Given the description of an element on the screen output the (x, y) to click on. 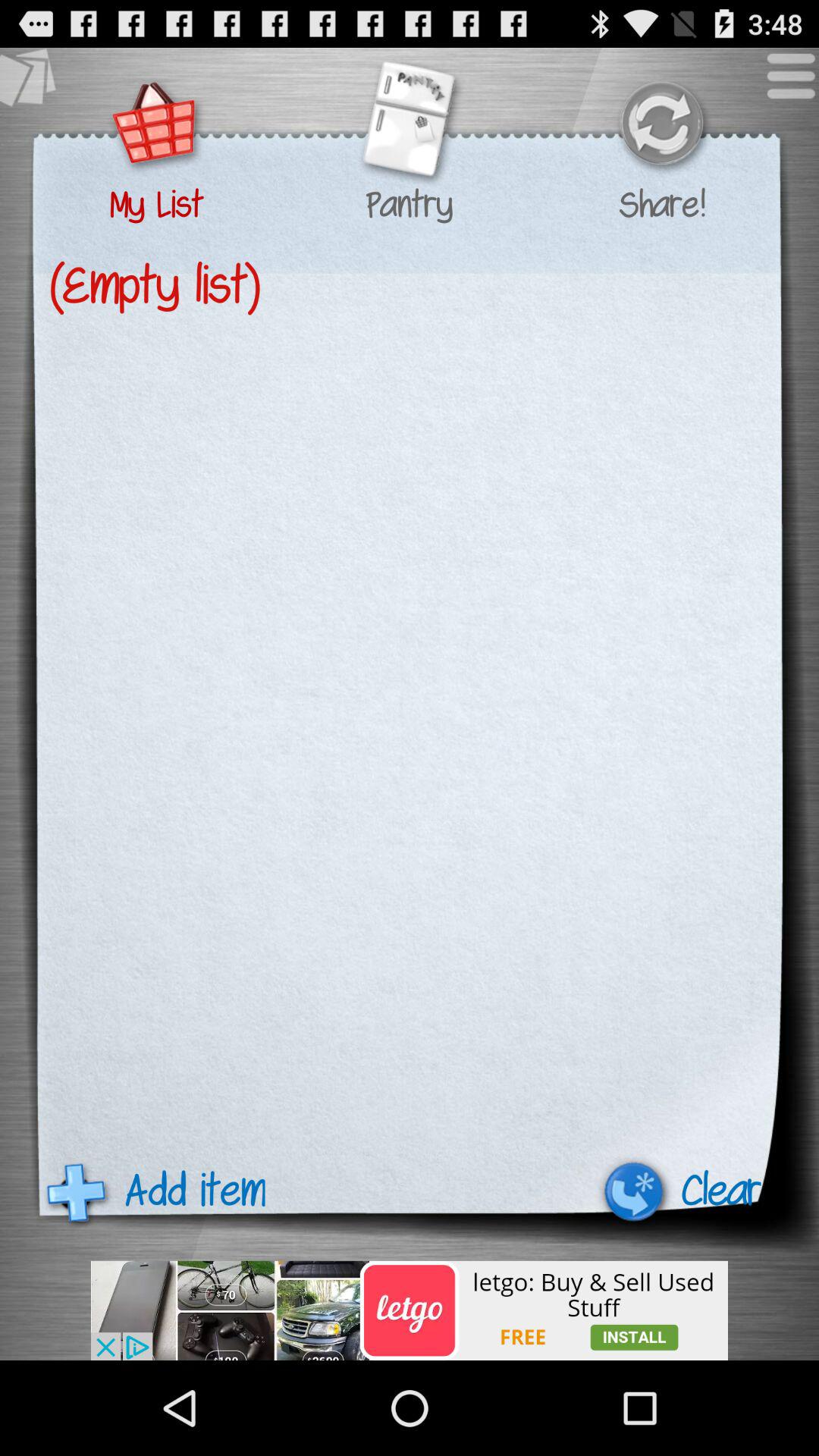
view list (156, 125)
